Given the description of an element on the screen output the (x, y) to click on. 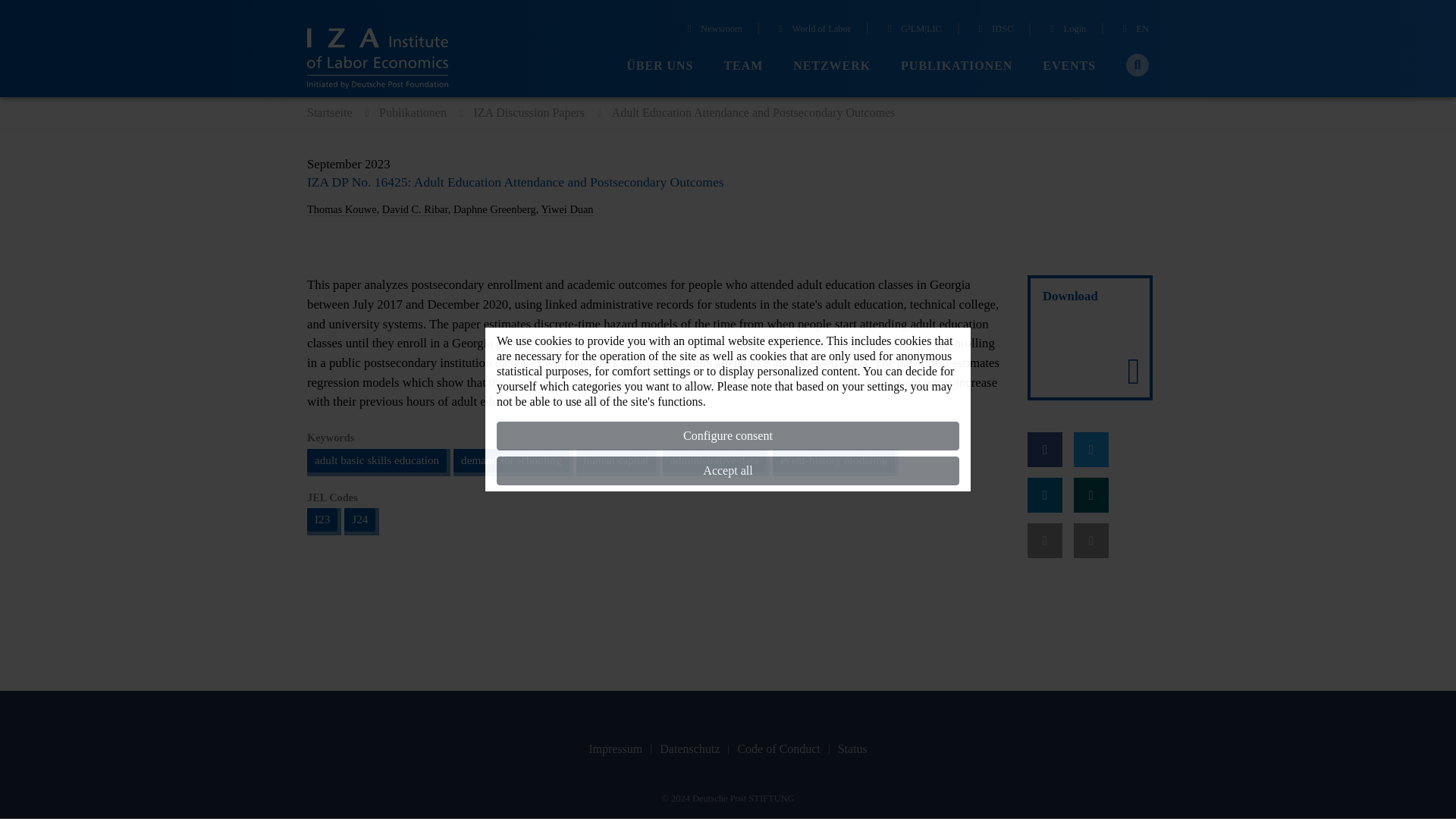
Login (1066, 30)
EVENTS (1069, 66)
Newsroom (712, 30)
PUBLIKATIONEN (956, 66)
World of Labor (812, 30)
TEAM (742, 66)
IDSC (993, 30)
EN (1133, 30)
NETZWERK (831, 66)
